Given the description of an element on the screen output the (x, y) to click on. 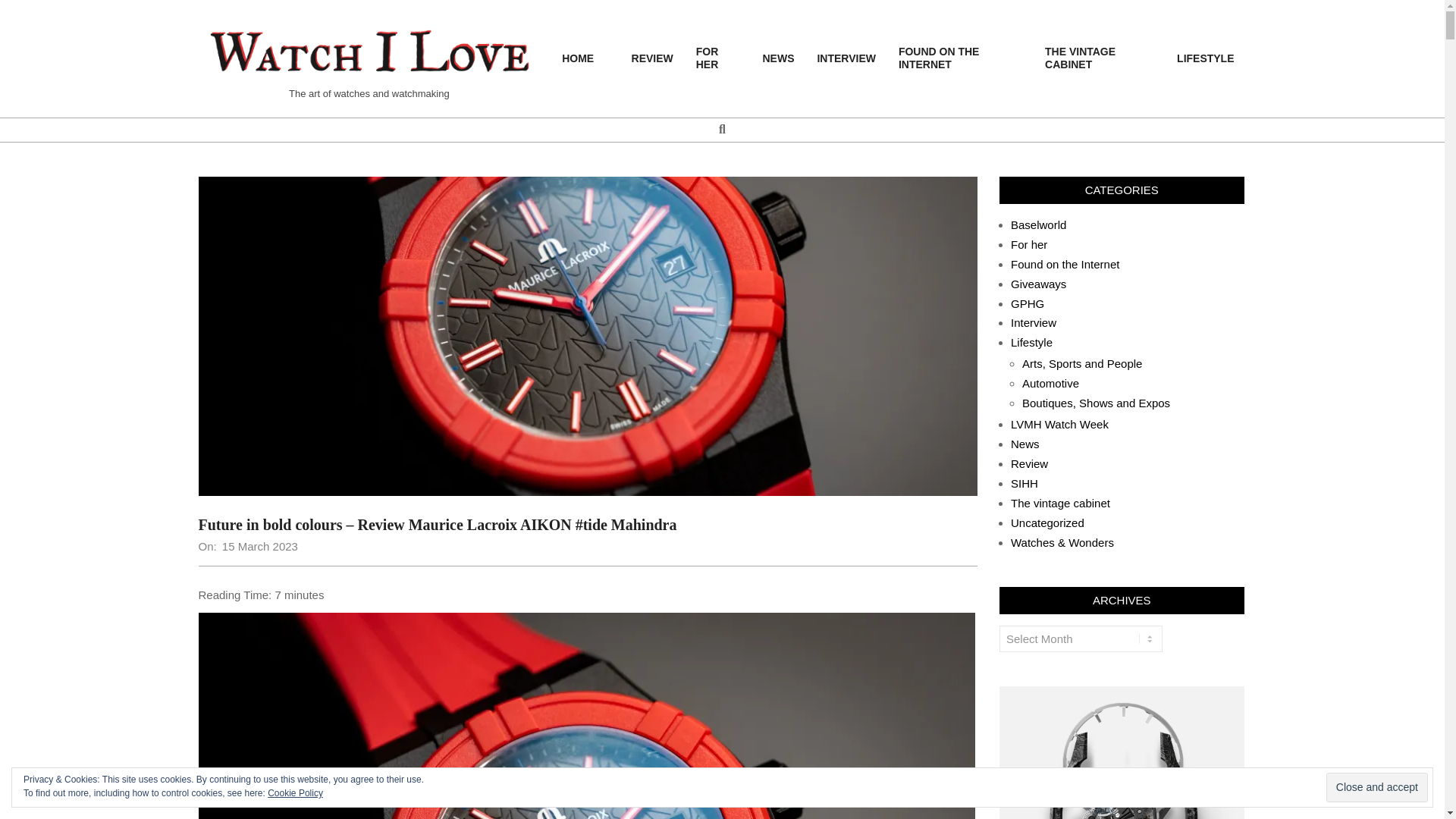
FOUND ON THE INTERNET (959, 58)
THE VINTAGE CABINET (1099, 58)
Close and accept (1377, 787)
FOR HER (717, 58)
Wednesday, March 15, 2023, 9:00 pm (260, 545)
LIFESTYLE (1205, 58)
HOME      (585, 58)
REVIEW (652, 58)
INTERVIEW (845, 58)
Search (21, 8)
NEWS (778, 58)
